Given the description of an element on the screen output the (x, y) to click on. 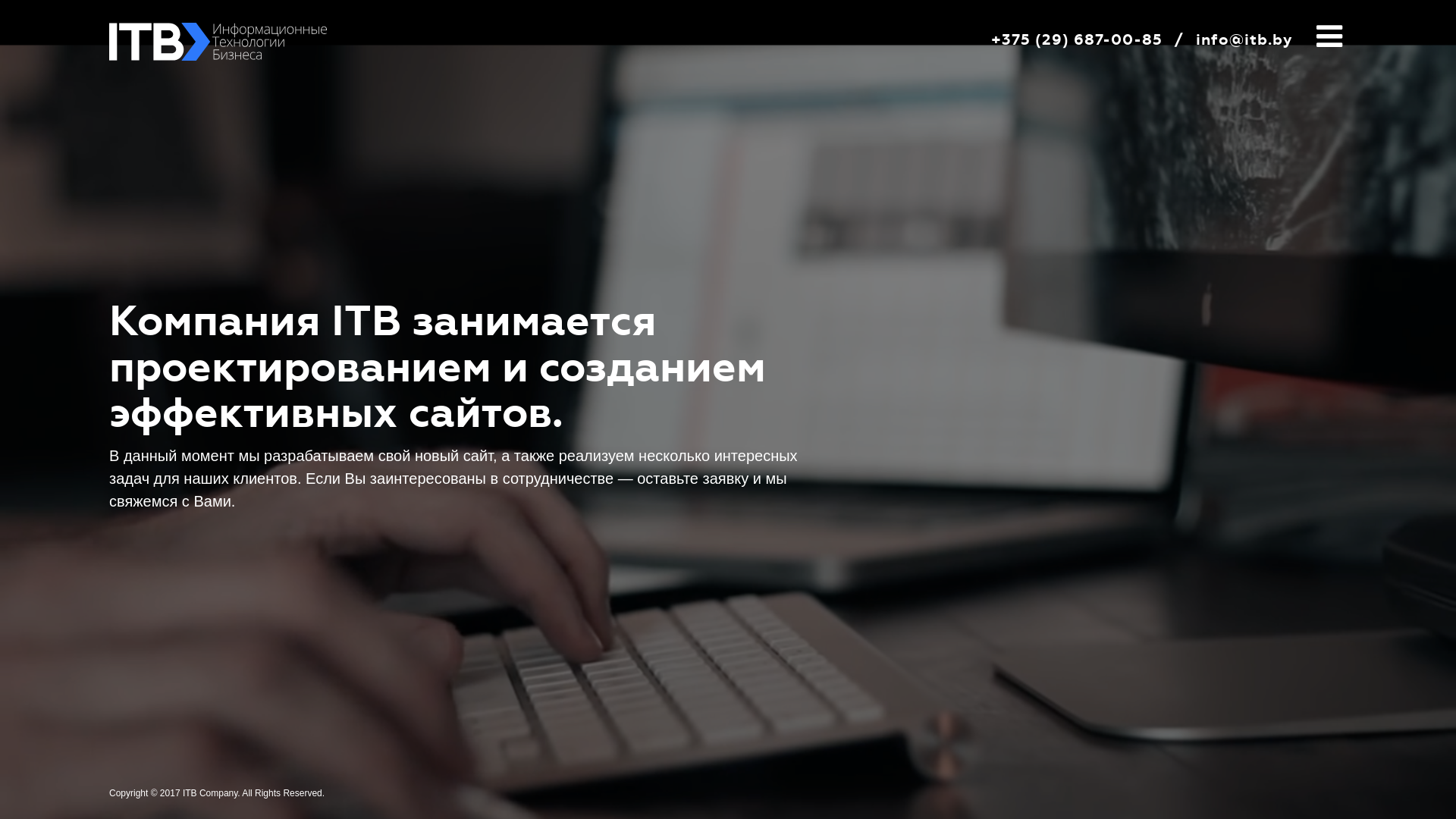
info@itb.by Element type: text (1243, 39)
+375 (29) 687-00-85 Element type: text (1076, 39)
